Given the description of an element on the screen output the (x, y) to click on. 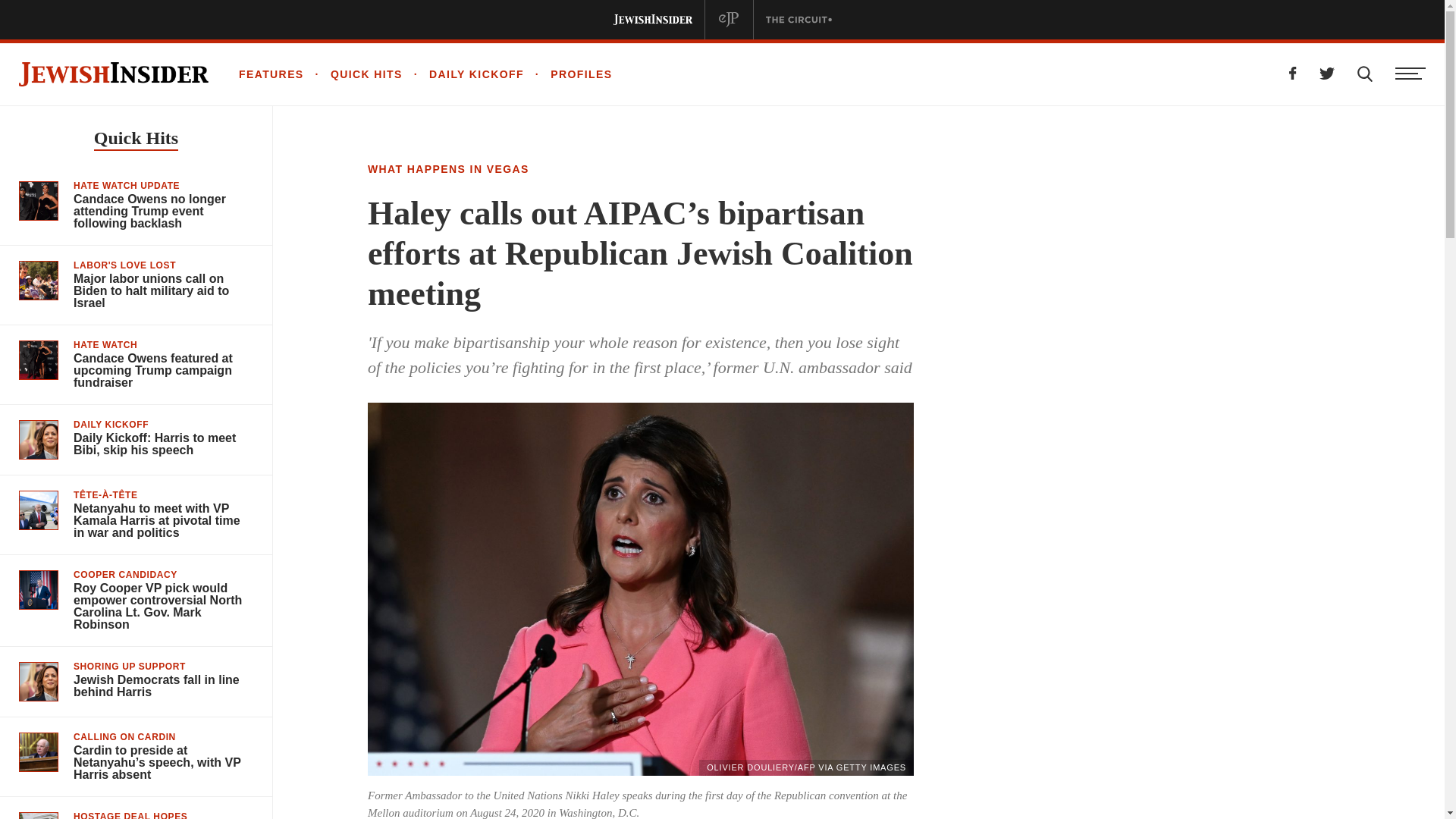
QUICK HITS (353, 73)
PROFILES (568, 73)
FEATURES (271, 73)
Quick Hits (135, 139)
DAILY KICKOFF (463, 73)
